Given the description of an element on the screen output the (x, y) to click on. 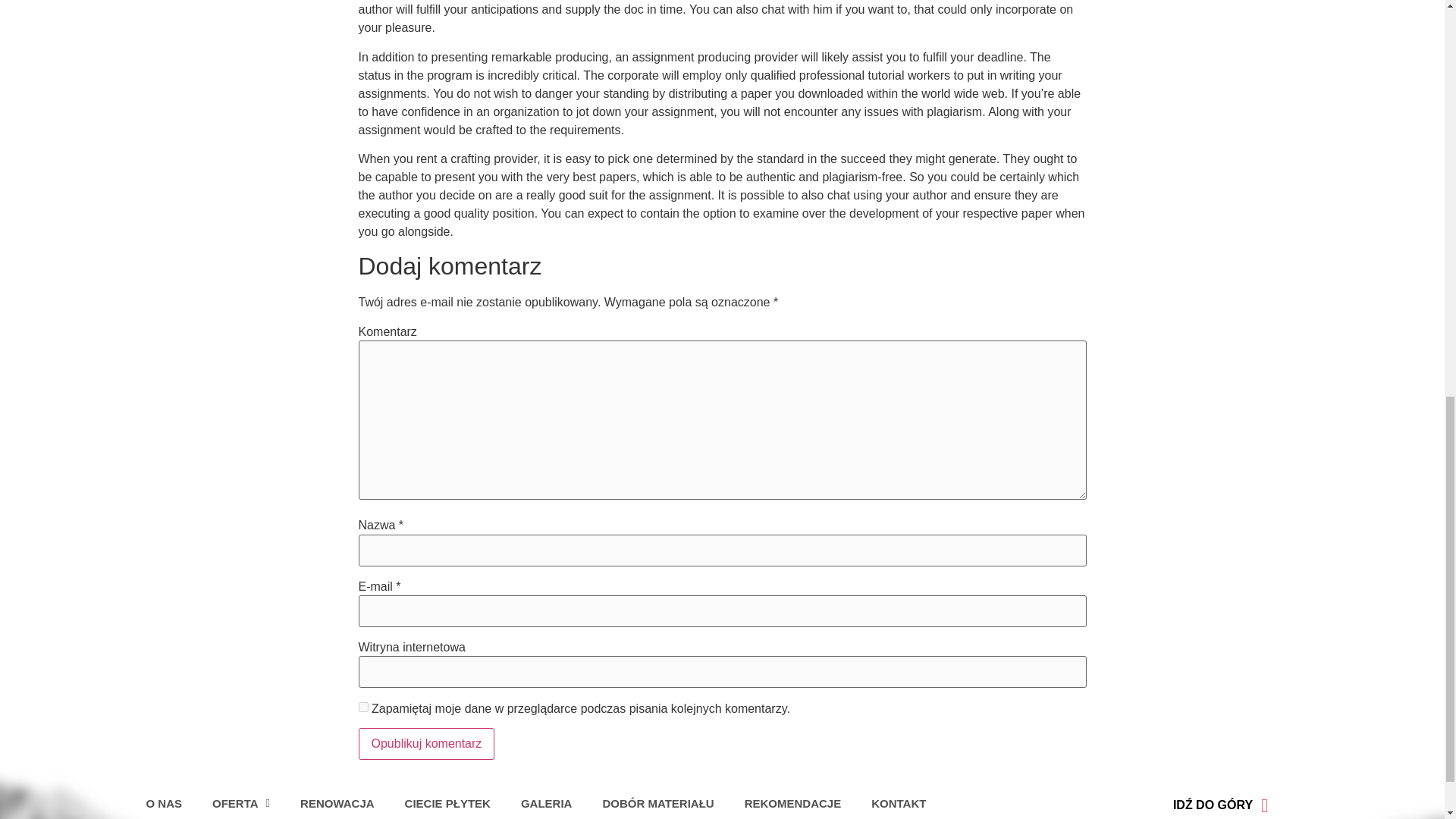
RENOWACJA (337, 802)
Opublikuj komentarz (426, 744)
yes (363, 706)
Opublikuj komentarz (426, 744)
OFERTA (240, 802)
GALERIA (546, 802)
REKOMENDACJE (793, 802)
O NAS (163, 802)
